Given the description of an element on the screen output the (x, y) to click on. 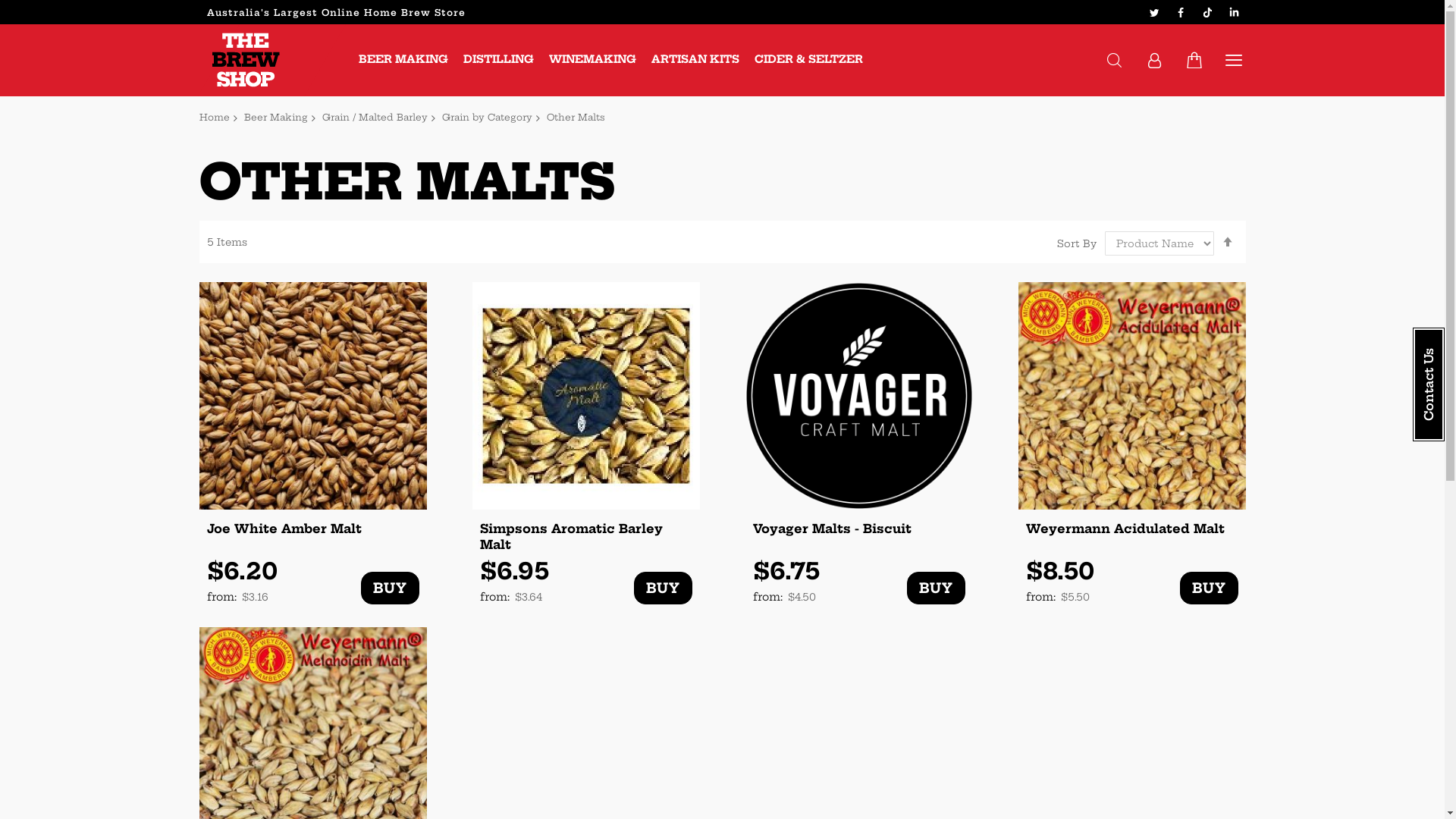
ARTISAN KITS Element type: text (694, 59)
Grain / Malted Barley Element type: text (373, 116)
Voyager Malts - Biscuit Element type: text (858, 536)
BUY Element type: text (1208, 587)
DISTILLING Element type: text (497, 59)
from $3.16 Element type: text (241, 596)
Joe White Amber Malt Element type: text (312, 536)
Weyermann Acidulated Malt Element type: text (1131, 536)
BUY Element type: text (935, 587)
Grain by Category Element type: text (486, 116)
from $3.64 Element type: text (513, 596)
SEARCH Element type: text (1114, 60)
from $5.50 Element type: text (1059, 596)
Home Element type: text (213, 116)
Beer Making Element type: text (275, 116)
The Brew Shop Element type: hover (246, 60)
BUY Element type: text (662, 587)
from $4.50 Element type: text (785, 596)
CIDER & SELTZER Element type: text (807, 59)
BUY Element type: text (389, 587)
WINEMAKING Element type: text (592, 59)
Simpsons Aromatic Barley Malt Element type: text (585, 536)
BEER MAKING Element type: text (402, 59)
Set Descending Direction Element type: text (1226, 241)
